Given the description of an element on the screen output the (x, y) to click on. 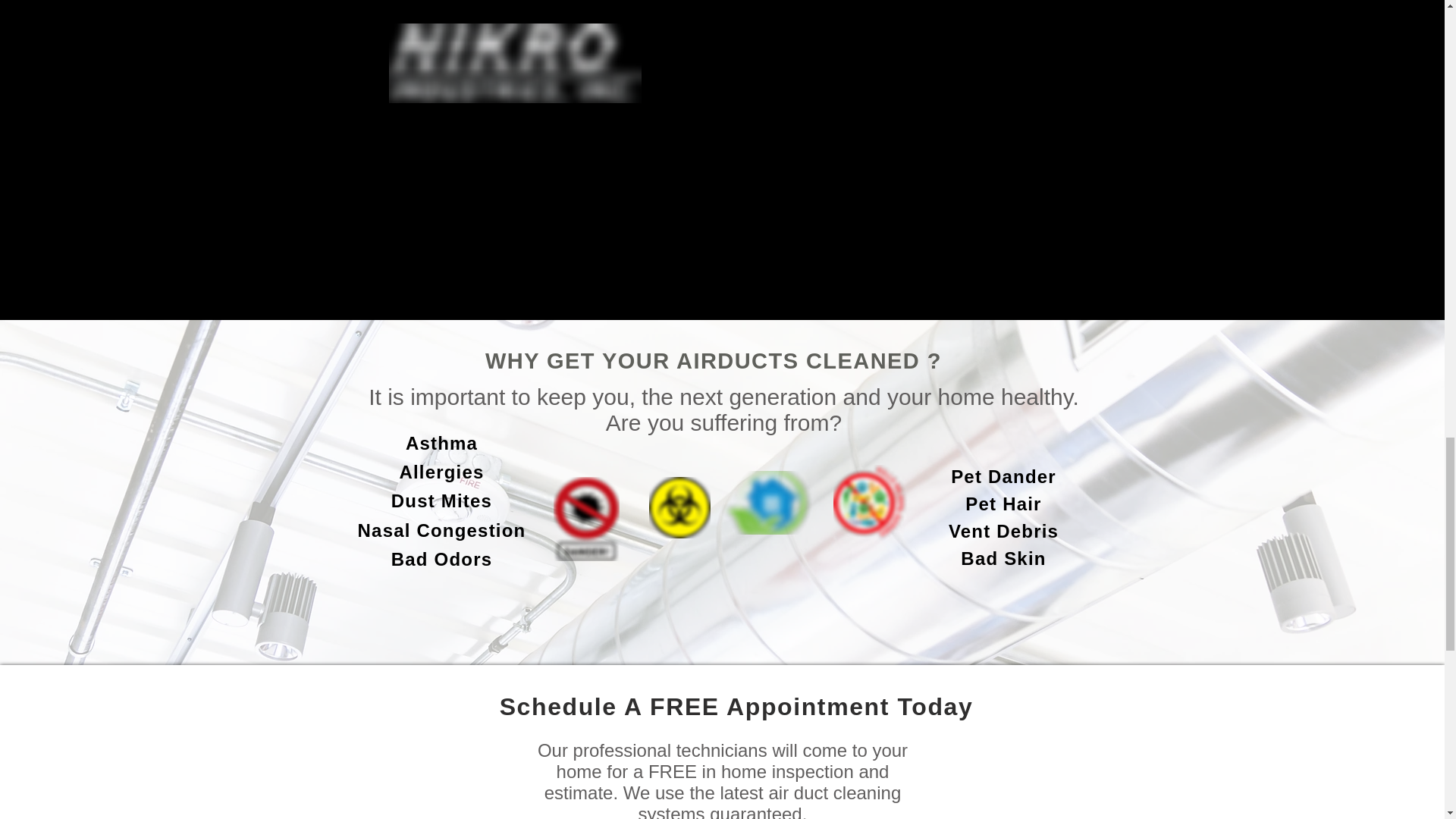
kisspng-bacteria-photography-5b0b90df97a (872, 503)
transparent-covid19-coronavirus-corona-5 (767, 502)
2222.jpg (679, 507)
